Given the description of an element on the screen output the (x, y) to click on. 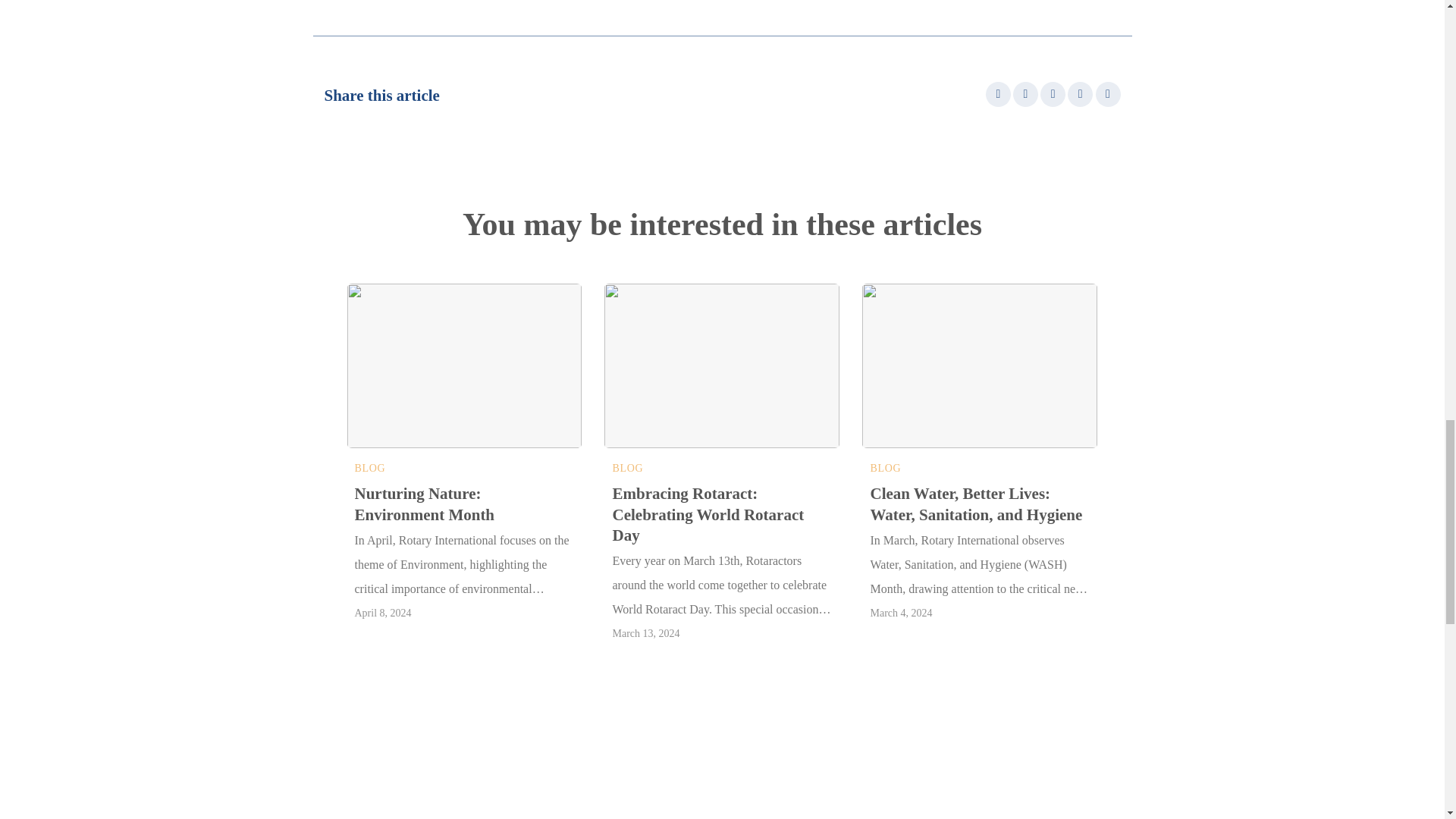
Pin on Pinterest (1080, 94)
Clean Water, Better Lives: Water, Sanitation, and Hygiene (979, 504)
Nurturing Nature: Environment Month (465, 504)
Email to a Friend (1053, 94)
Share on LinkedIn (1108, 94)
Share on Twitter (1025, 94)
Embracing Rotaract: Celebrating World Rotaract Day (721, 515)
Share on Facebook (997, 94)
